Given the description of an element on the screen output the (x, y) to click on. 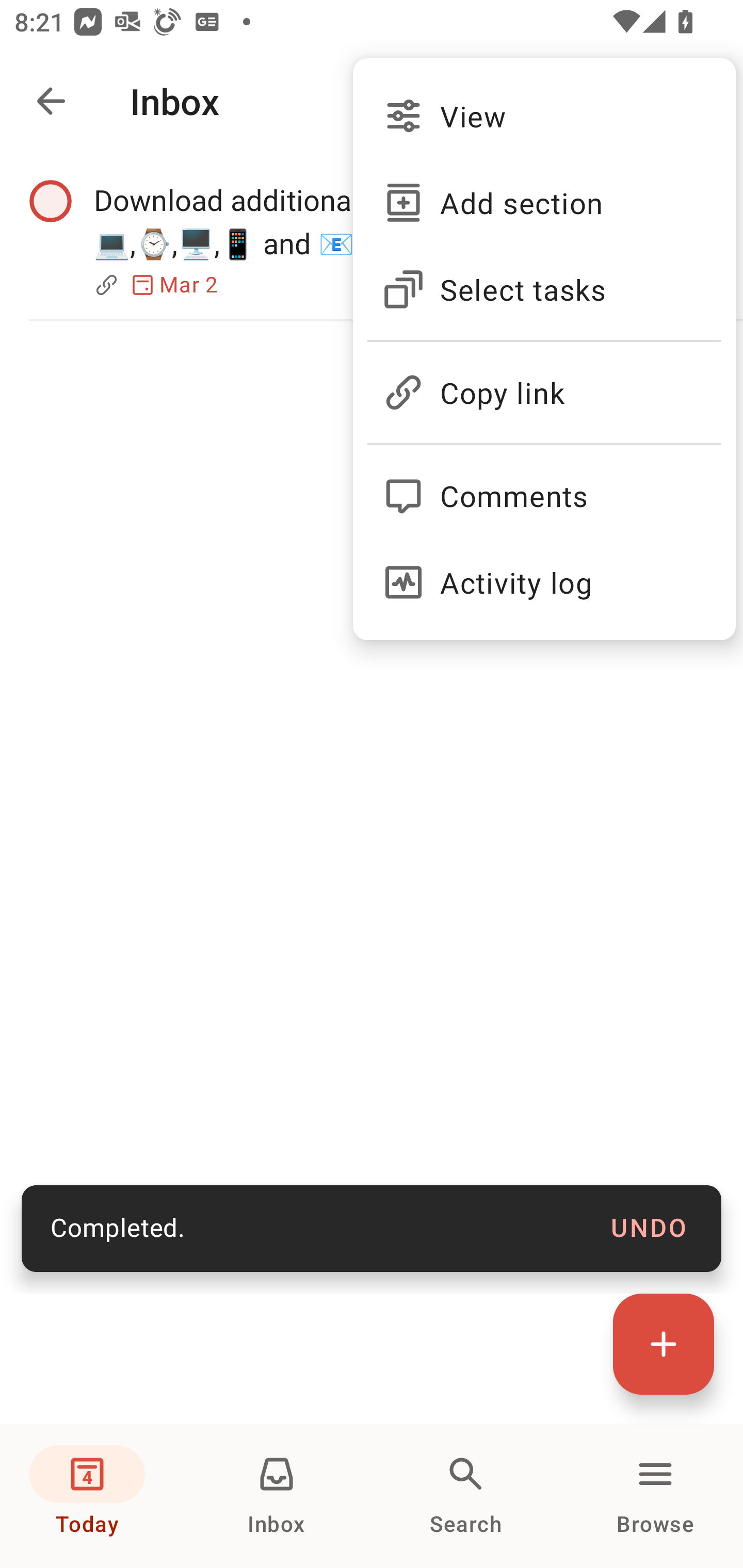
View (544, 115)
Add section (544, 202)
Select tasks (544, 289)
Copy link (544, 383)
Comments (544, 487)
Activity log (544, 582)
